Given the description of an element on the screen output the (x, y) to click on. 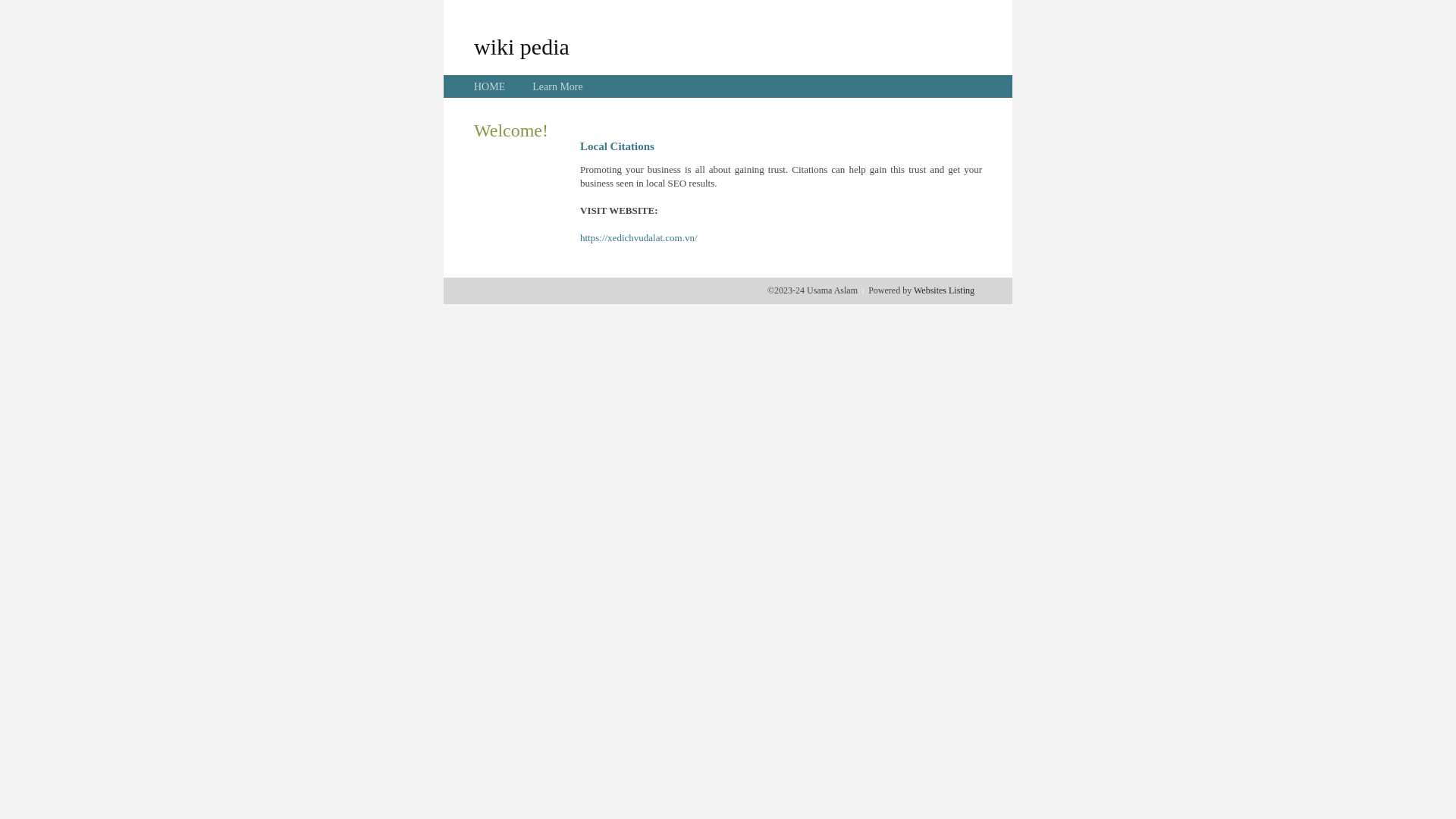
Learn More Element type: text (557, 86)
Websites Listing Element type: text (943, 290)
HOME Element type: text (489, 86)
wiki pedia Element type: text (521, 46)
https://xedichvudalat.com.vn/ Element type: text (638, 237)
